Given the description of an element on the screen output the (x, y) to click on. 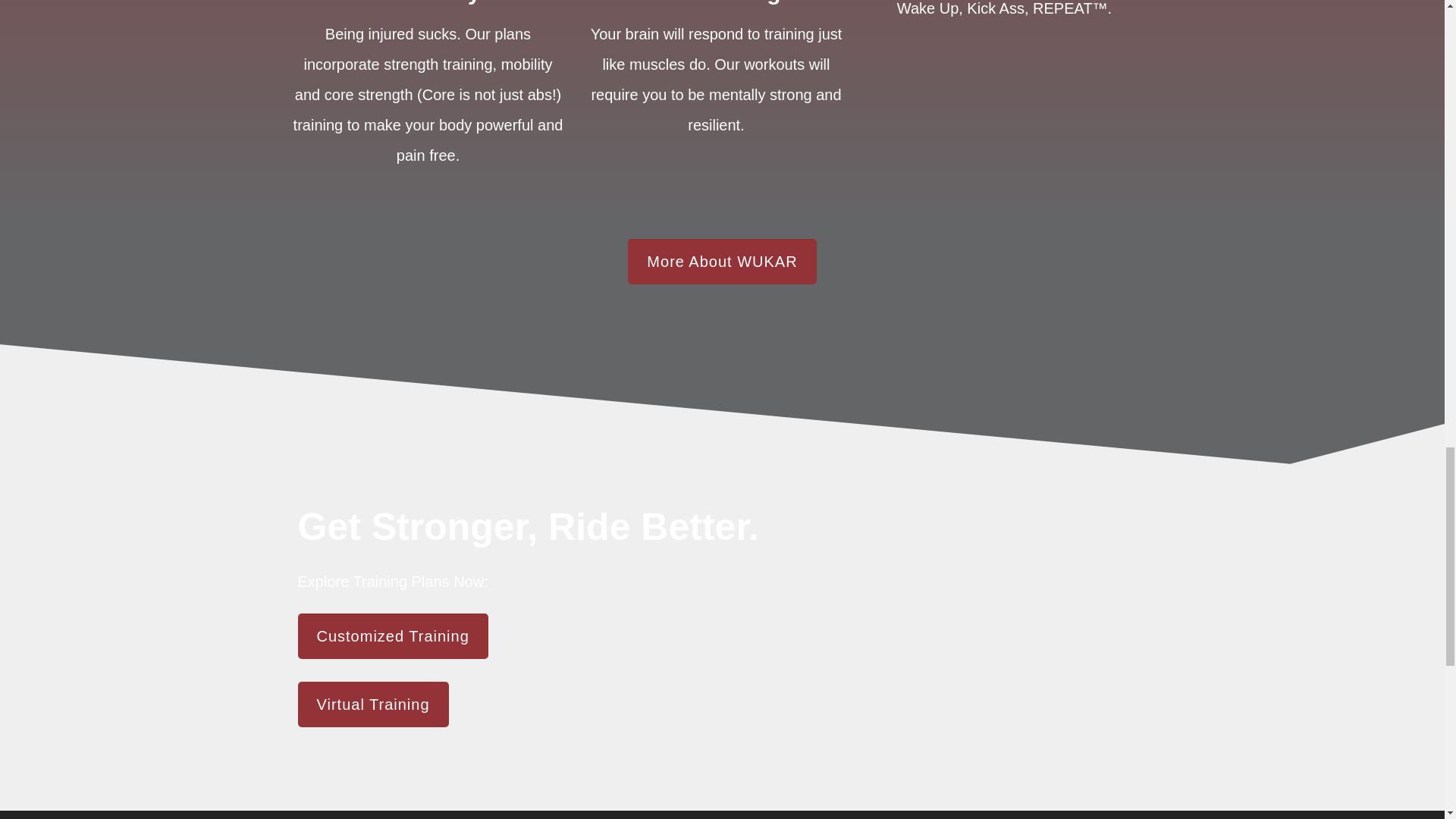
Customized Training (392, 636)
Virtual Training (372, 704)
More About WUKAR (721, 261)
